Given the description of an element on the screen output the (x, y) to click on. 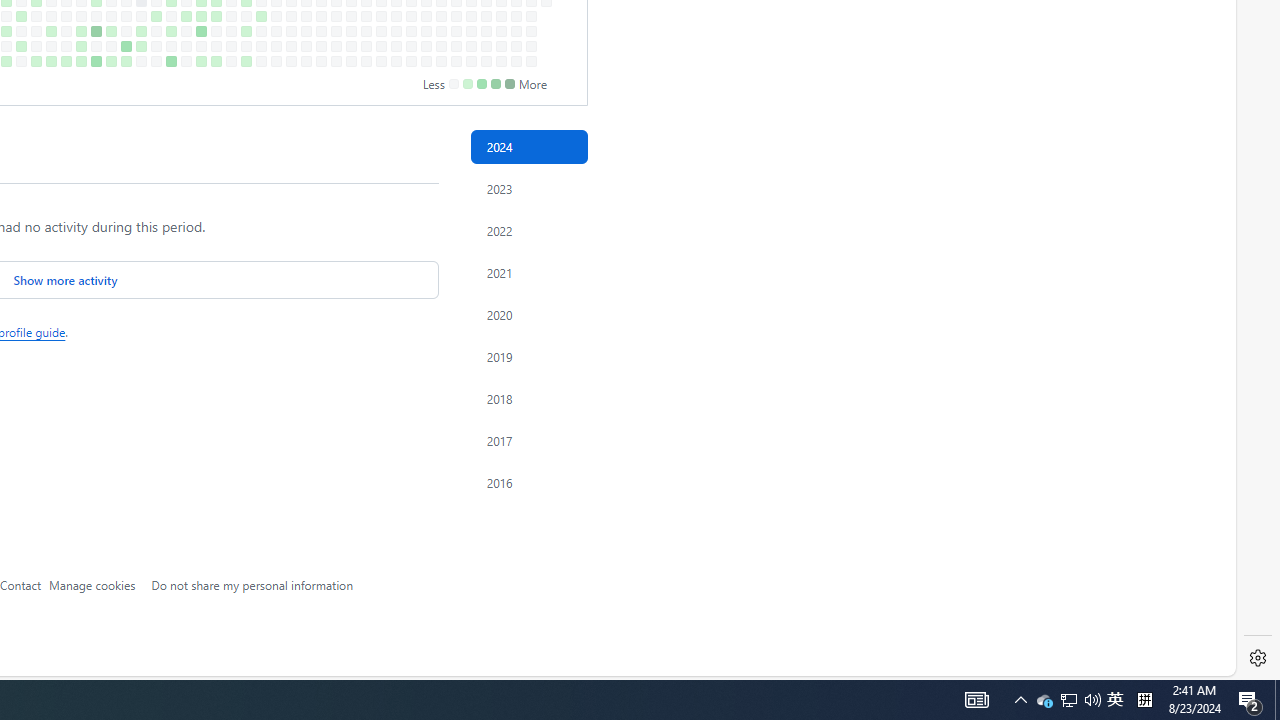
No contributions on November 1st. (411, 46)
2019 (528, 356)
No contributions on November 29th. (471, 46)
No contributions on December 14th. (501, 61)
No contributions on December 28th. (531, 61)
Manage cookies (91, 584)
No contributions on December 13th. (501, 46)
No contributions on May 4th. (20, 61)
Do not share my personal information (252, 584)
1 contribution on May 18th. (51, 61)
3 contributions on April 27th. (6, 61)
2017 (528, 440)
No contributions on August 10th. (231, 61)
No contributions on November 22nd. (456, 46)
